Given the description of an element on the screen output the (x, y) to click on. 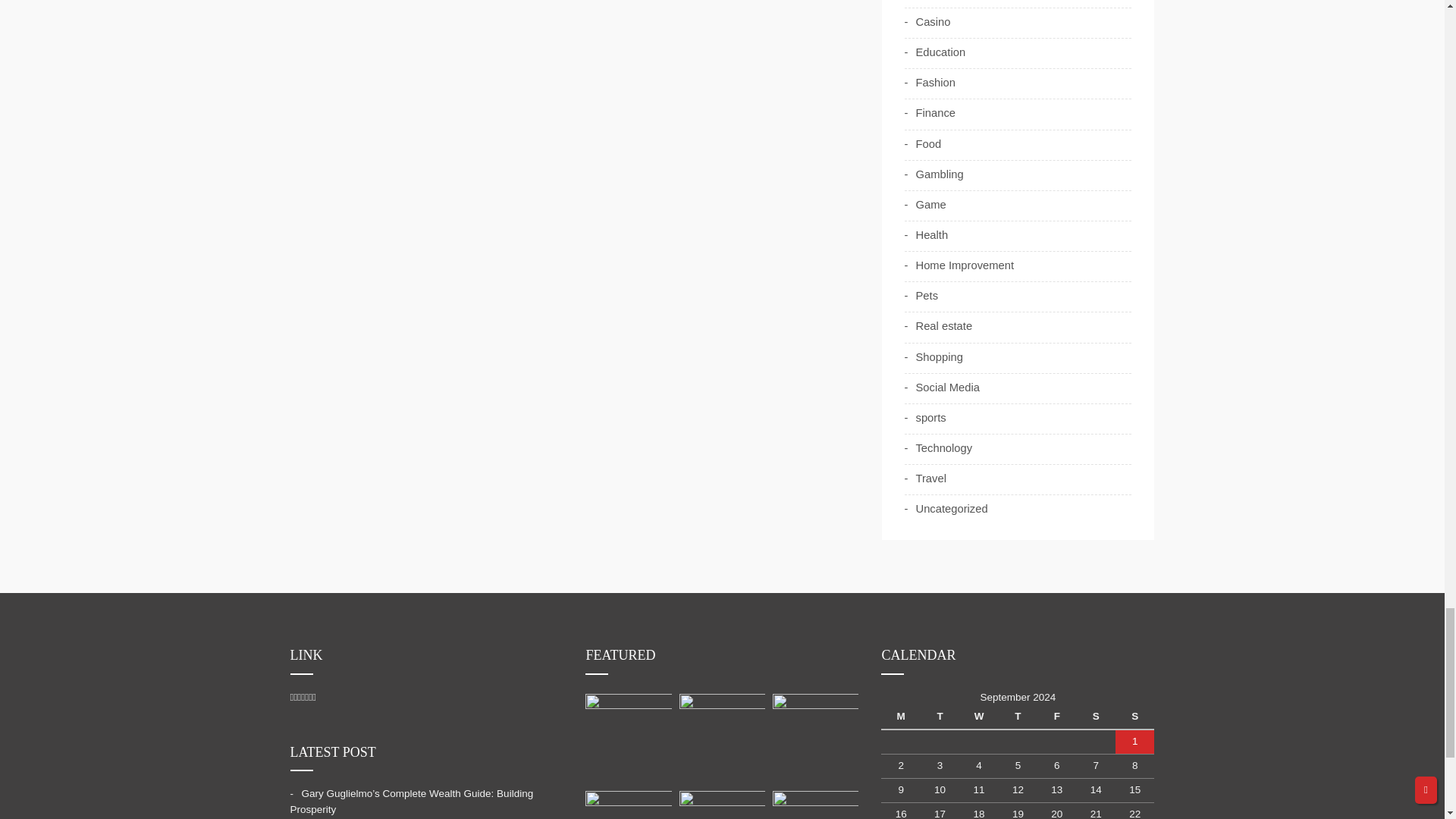
Thursday (1017, 717)
Saturday (1096, 717)
Friday (1055, 717)
Wednesday (978, 717)
Tuesday (939, 717)
Sunday (1134, 717)
Monday (900, 717)
